Given the description of an element on the screen output the (x, y) to click on. 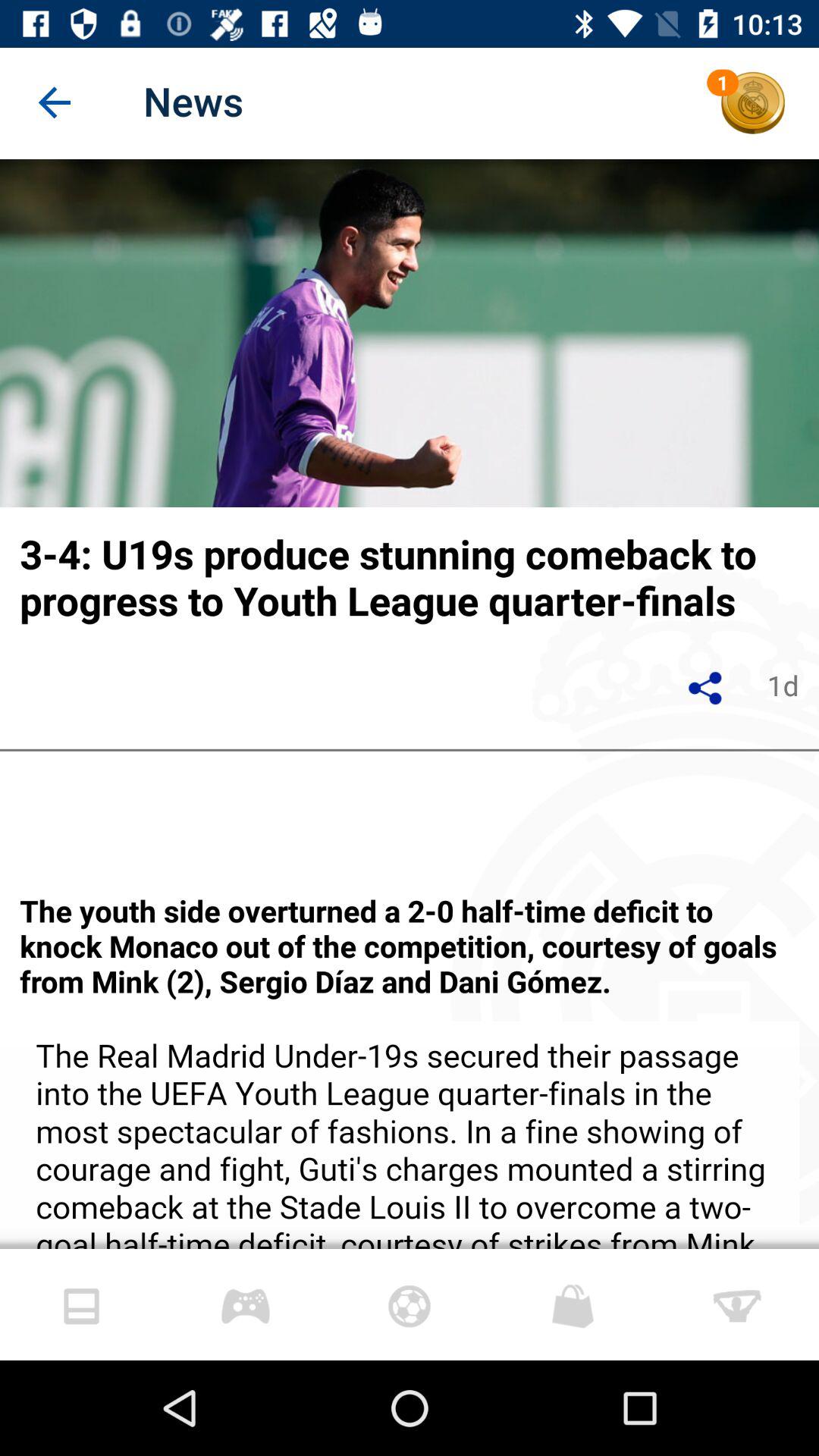
click on the shopping icon which is in the bottom of the page (573, 1306)
click the first icon which is above the navigation bar (82, 1306)
tap the share icon (705, 687)
select the icon which is right of news (753, 102)
